Given the description of an element on the screen output the (x, y) to click on. 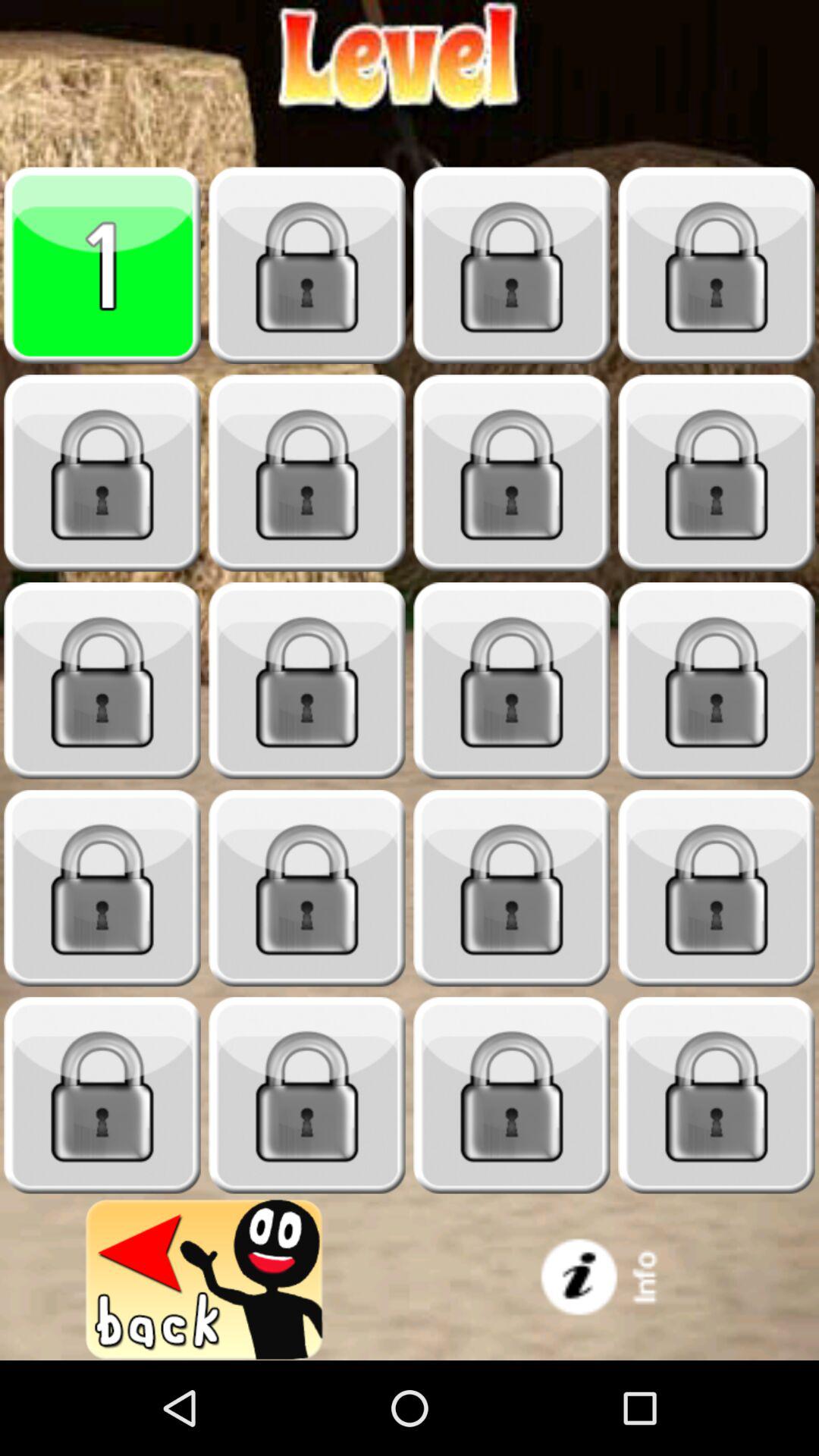
open level icon (306, 887)
